Given the description of an element on the screen output the (x, y) to click on. 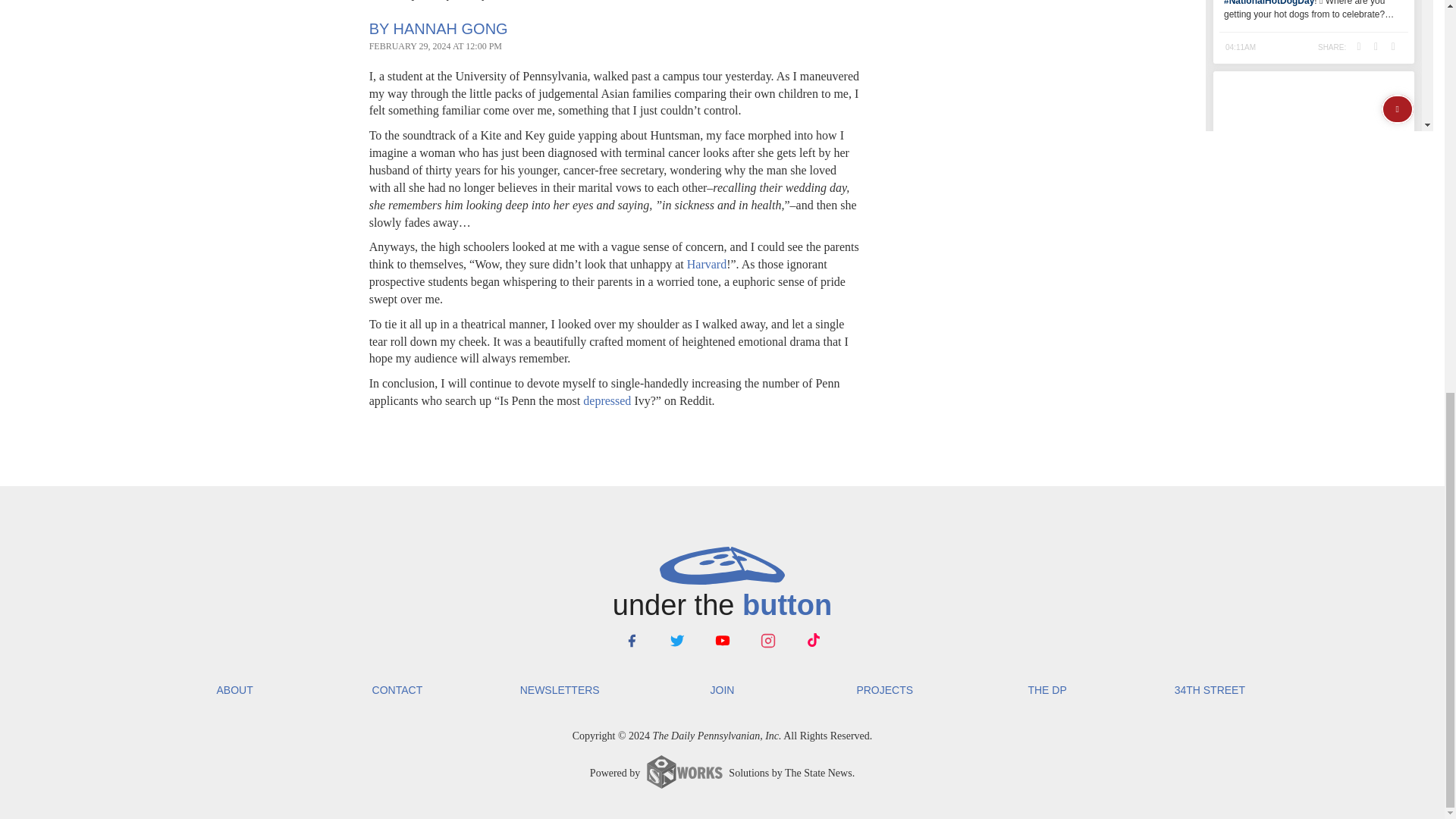
JOIN (721, 690)
THE DP (1047, 690)
NEWSLETTERS (559, 690)
under the button (721, 584)
34TH STREET (1209, 690)
PROJECTS (884, 690)
HANNAH GONG (450, 28)
depressed (606, 400)
Harvard (706, 264)
ABOUT (233, 690)
CONTACT (397, 690)
